Given the description of an element on the screen output the (x, y) to click on. 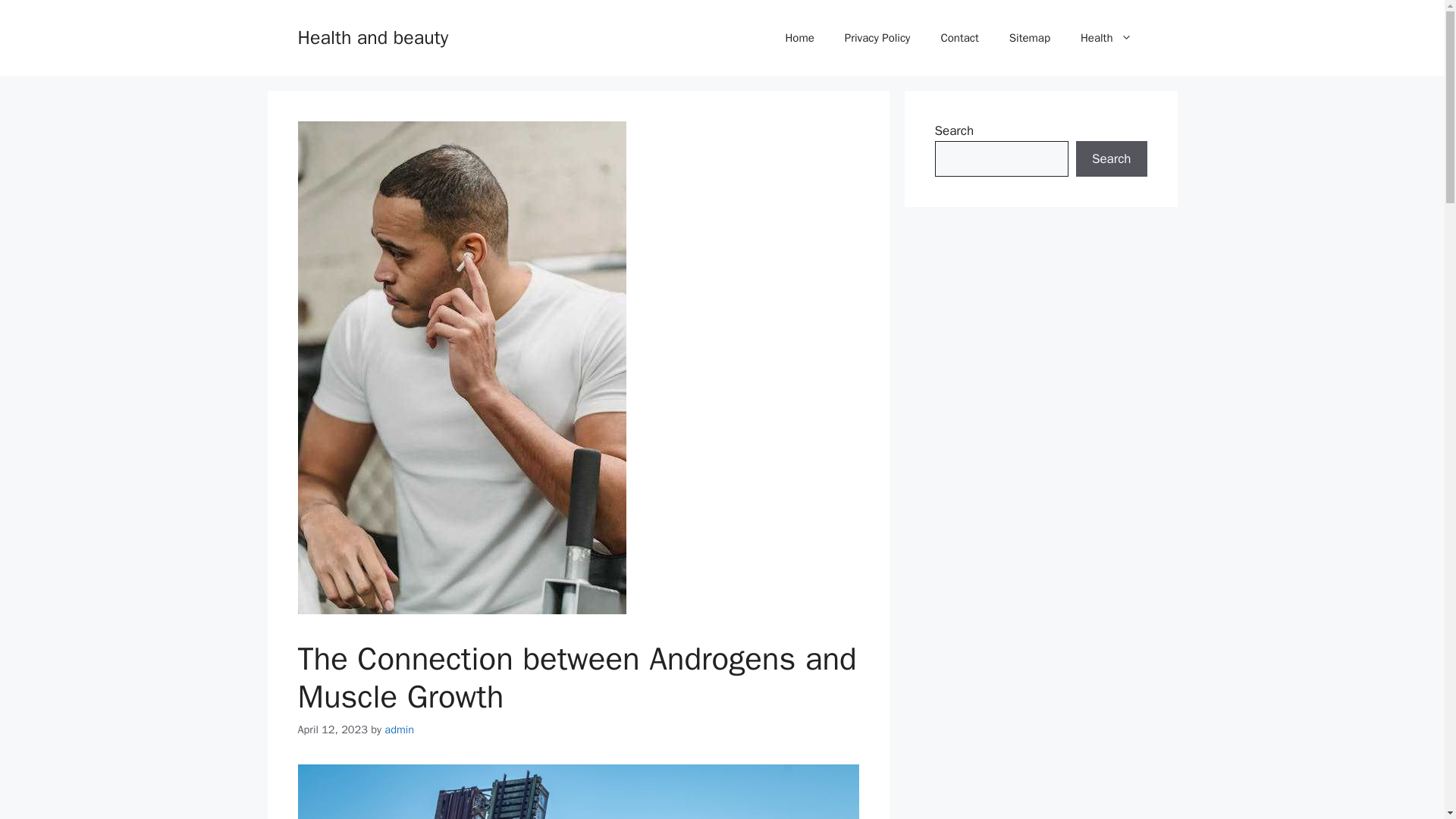
Search (1111, 158)
Health (1106, 37)
Contact (958, 37)
Sitemap (1029, 37)
View all posts by admin (398, 729)
admin (398, 729)
Privacy Policy (877, 37)
Home (799, 37)
Health and beauty (372, 37)
